Given the description of an element on the screen output the (x, y) to click on. 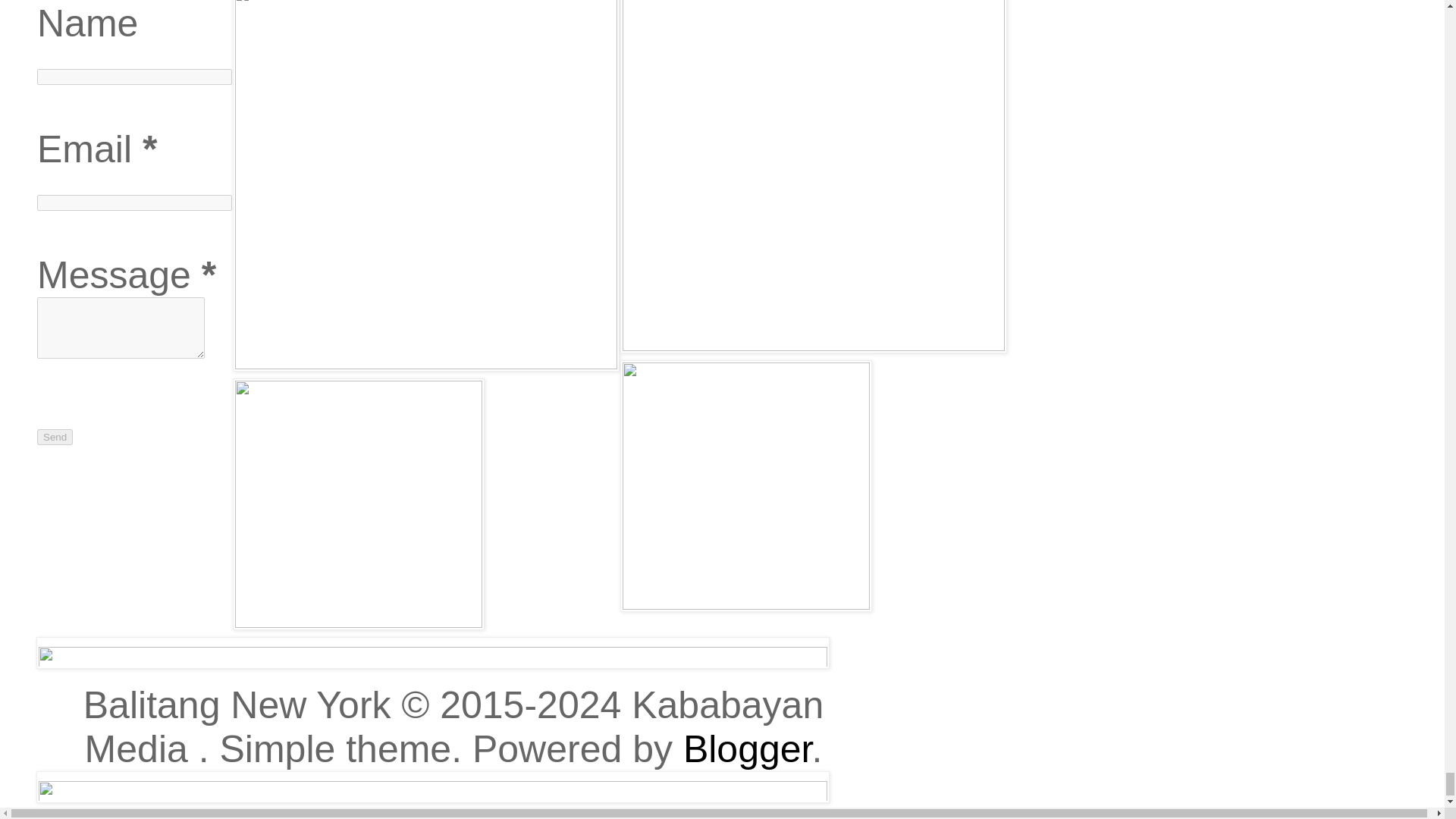
Send (54, 437)
